Given the description of an element on the screen output the (x, y) to click on. 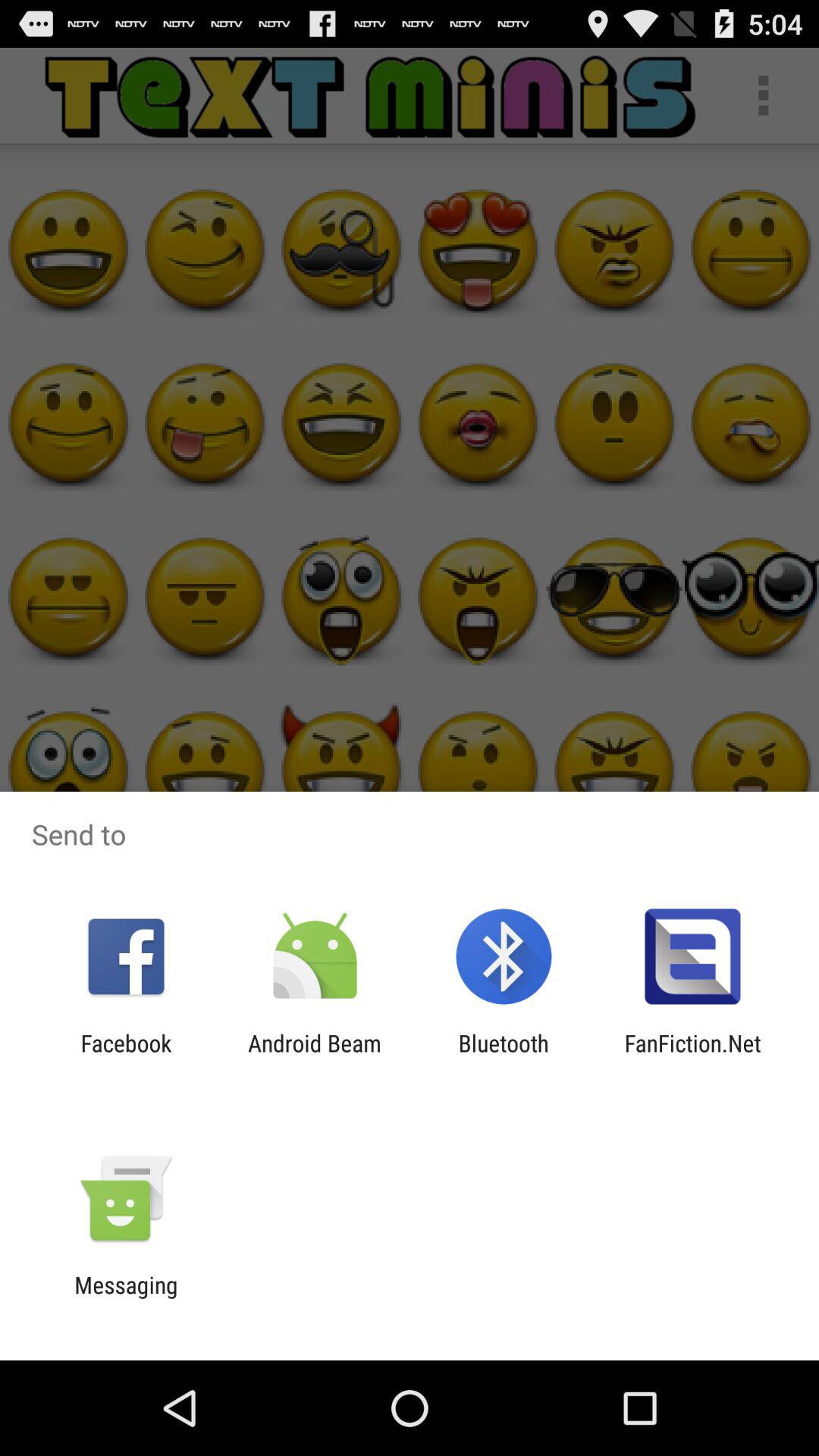
click the icon to the left of fanfiction.net item (503, 1056)
